Given the description of an element on the screen output the (x, y) to click on. 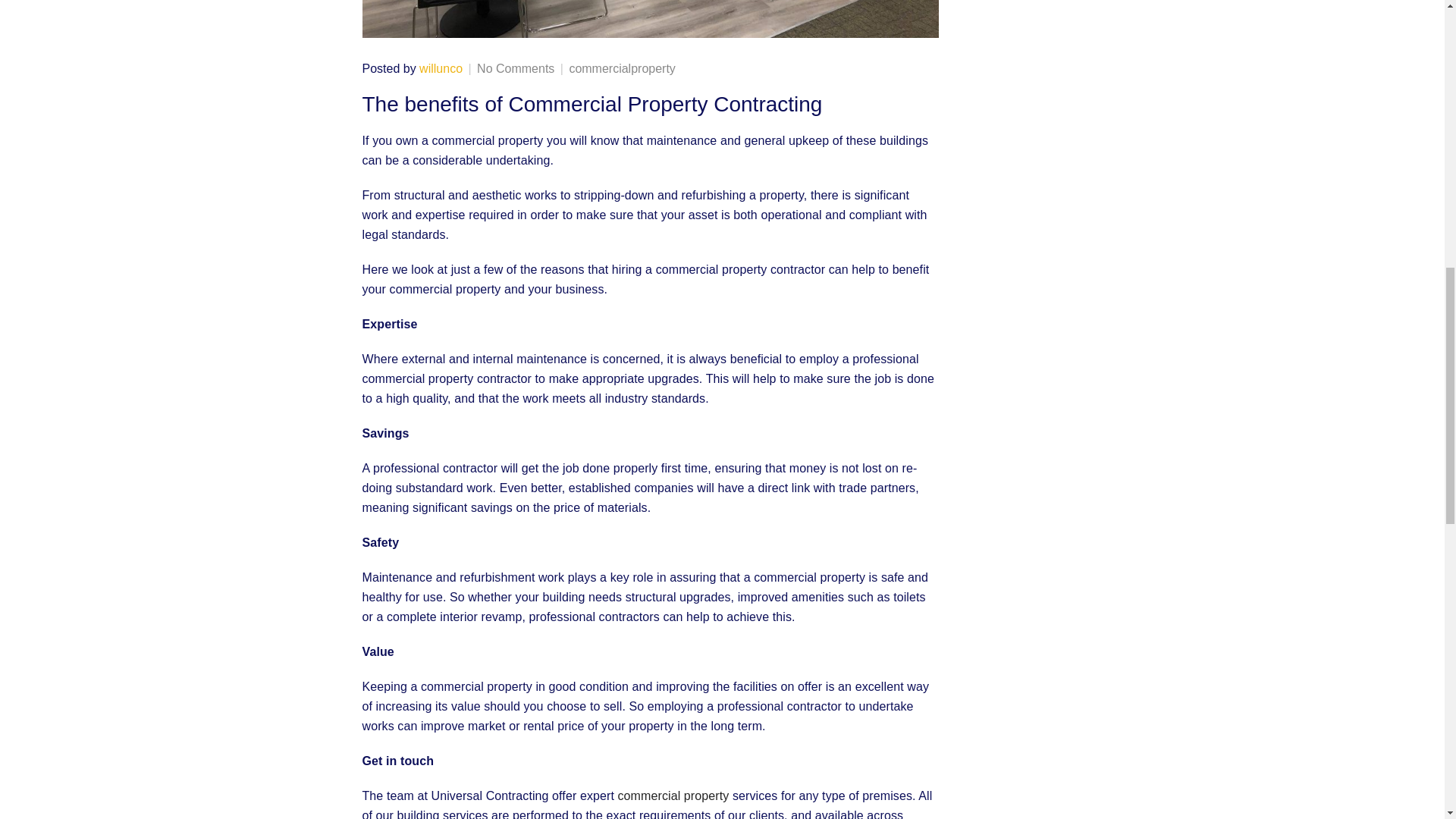
commercial property (673, 795)
willunco (441, 68)
commercialproperty (622, 68)
